Given the description of an element on the screen output the (x, y) to click on. 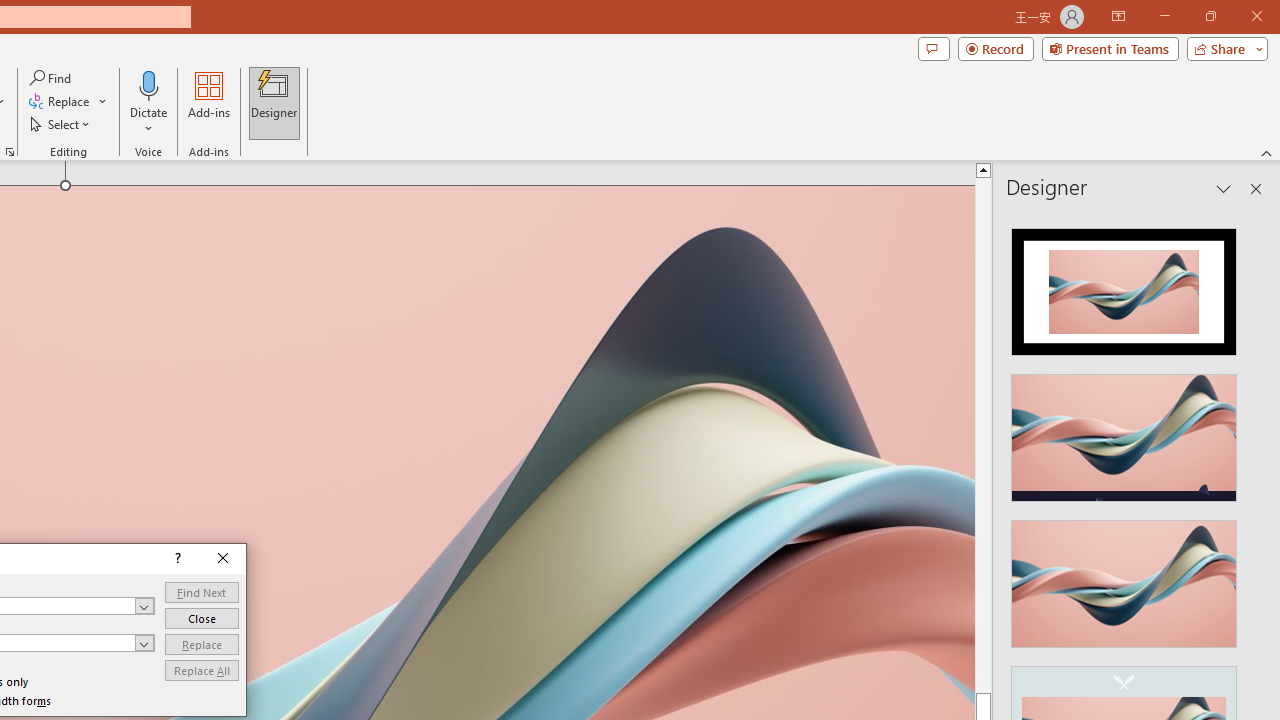
Find Next (201, 592)
